Given the description of an element on the screen output the (x, y) to click on. 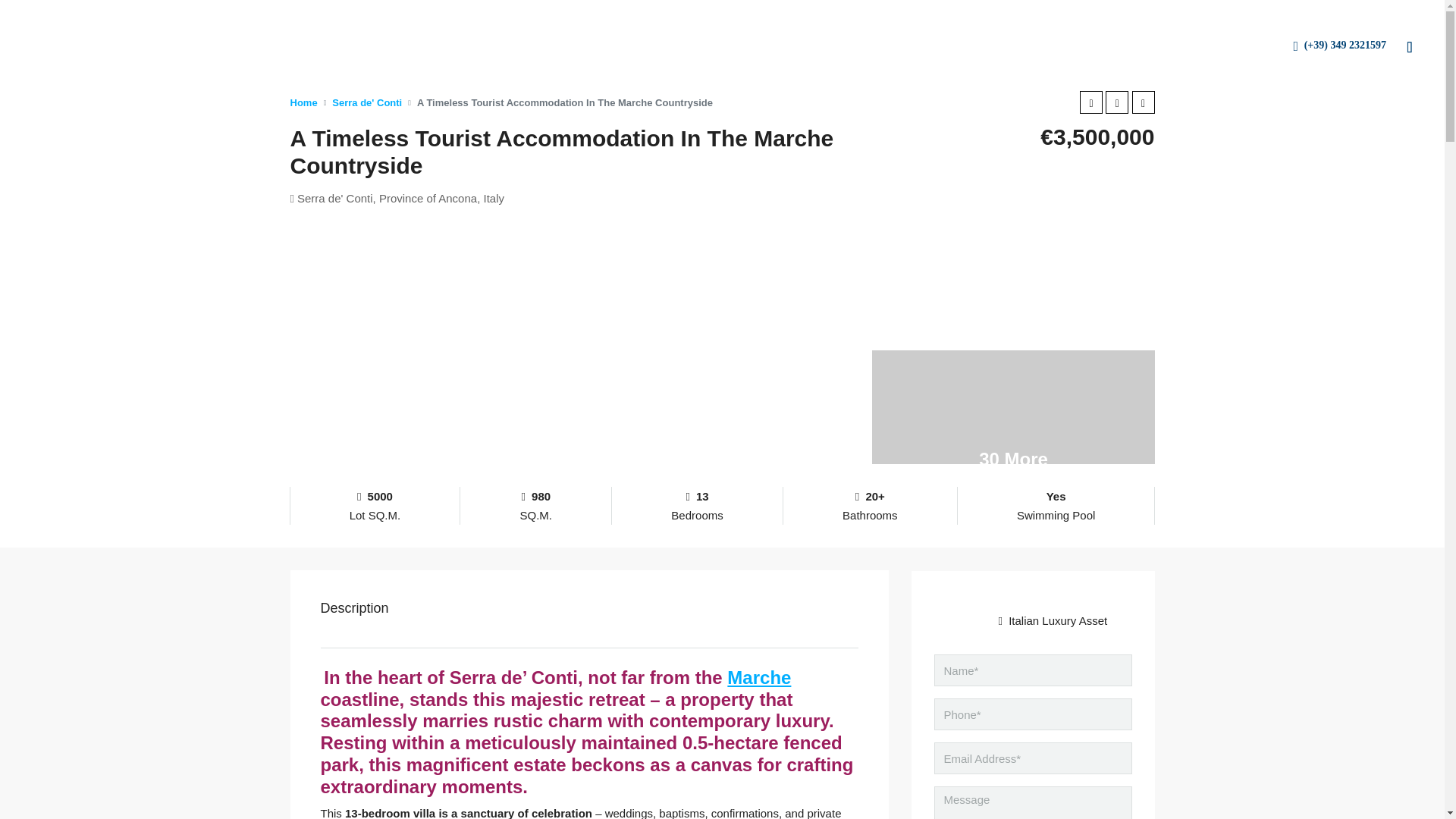
Testimonials (357, 45)
Services (433, 45)
Properties (207, 45)
Home (303, 101)
Buying guide (512, 45)
Serra de' Conti (366, 101)
About us (279, 45)
30 More (1014, 407)
